Given the description of an element on the screen output the (x, y) to click on. 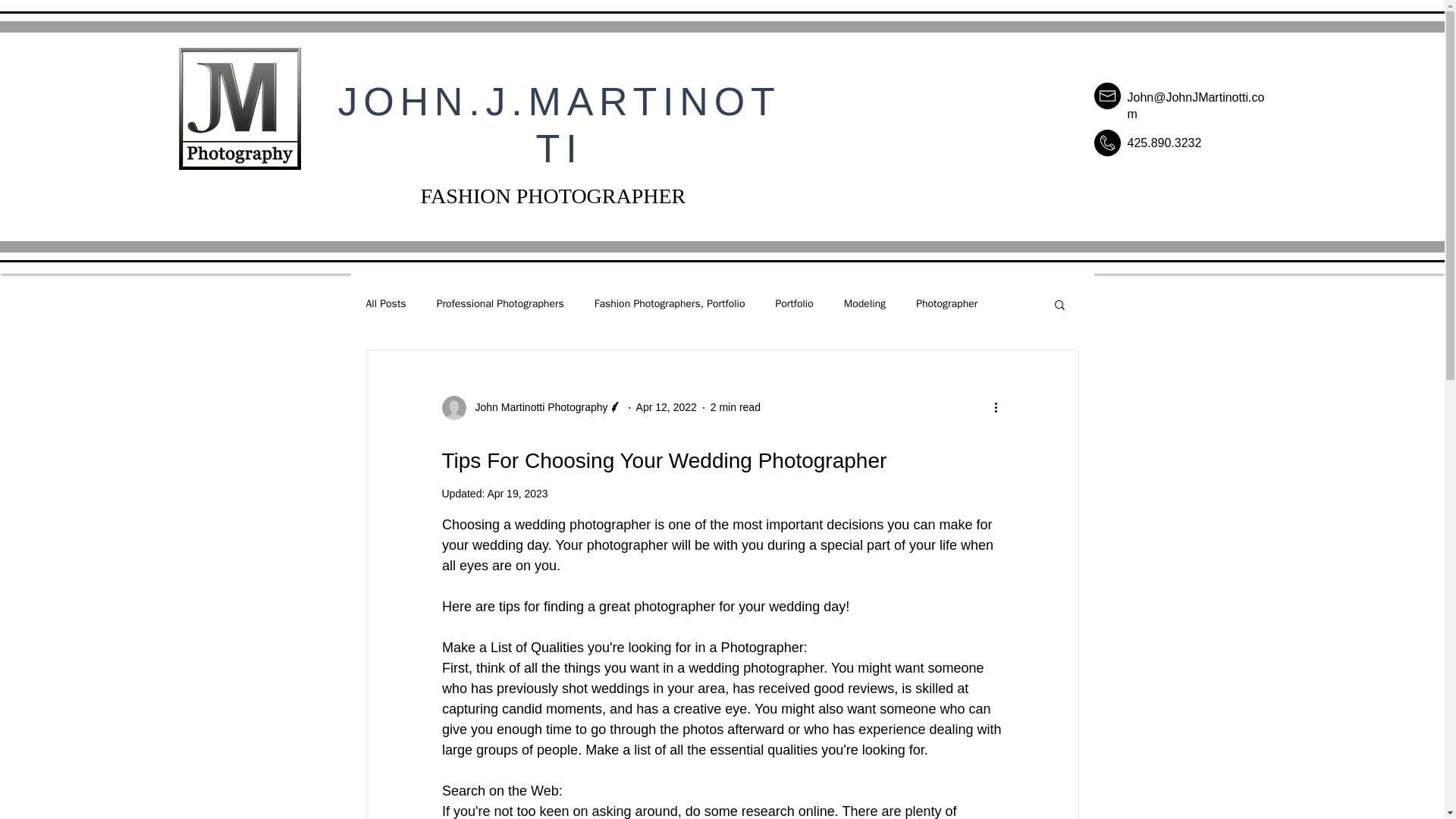
425.890.3232 (1163, 142)
All Posts (385, 304)
Apr 19, 2023 (516, 493)
Apr 12, 2022 (666, 407)
Portfolio (793, 304)
John Martinotti Photography (536, 407)
2 min read (735, 407)
Fashion Photographers, Portfolio (669, 304)
Modeling (864, 304)
John Martinotti Photography (531, 407)
